Given the description of an element on the screen output the (x, y) to click on. 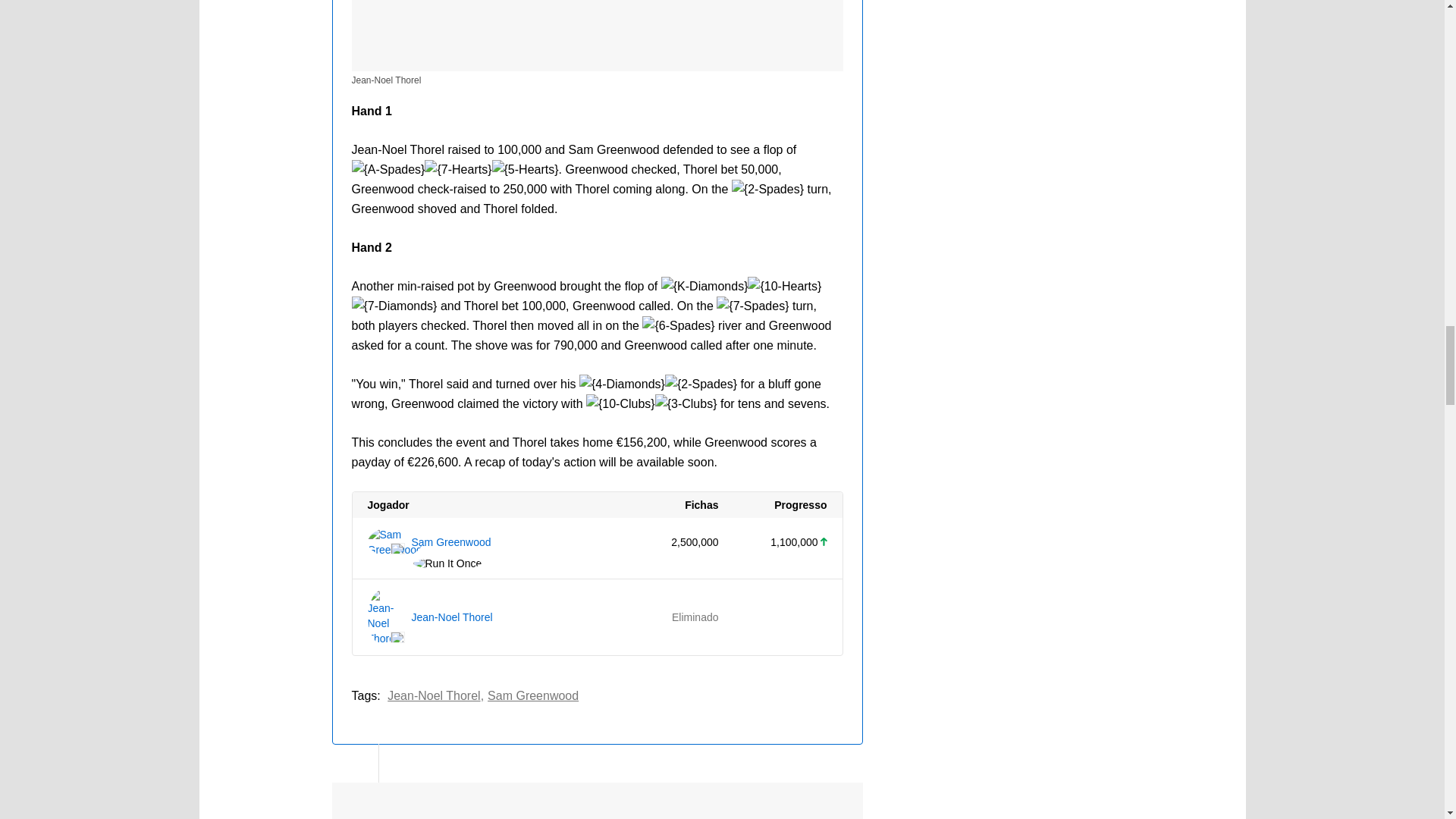
ca (397, 548)
fr (397, 637)
